Given the description of an element on the screen output the (x, y) to click on. 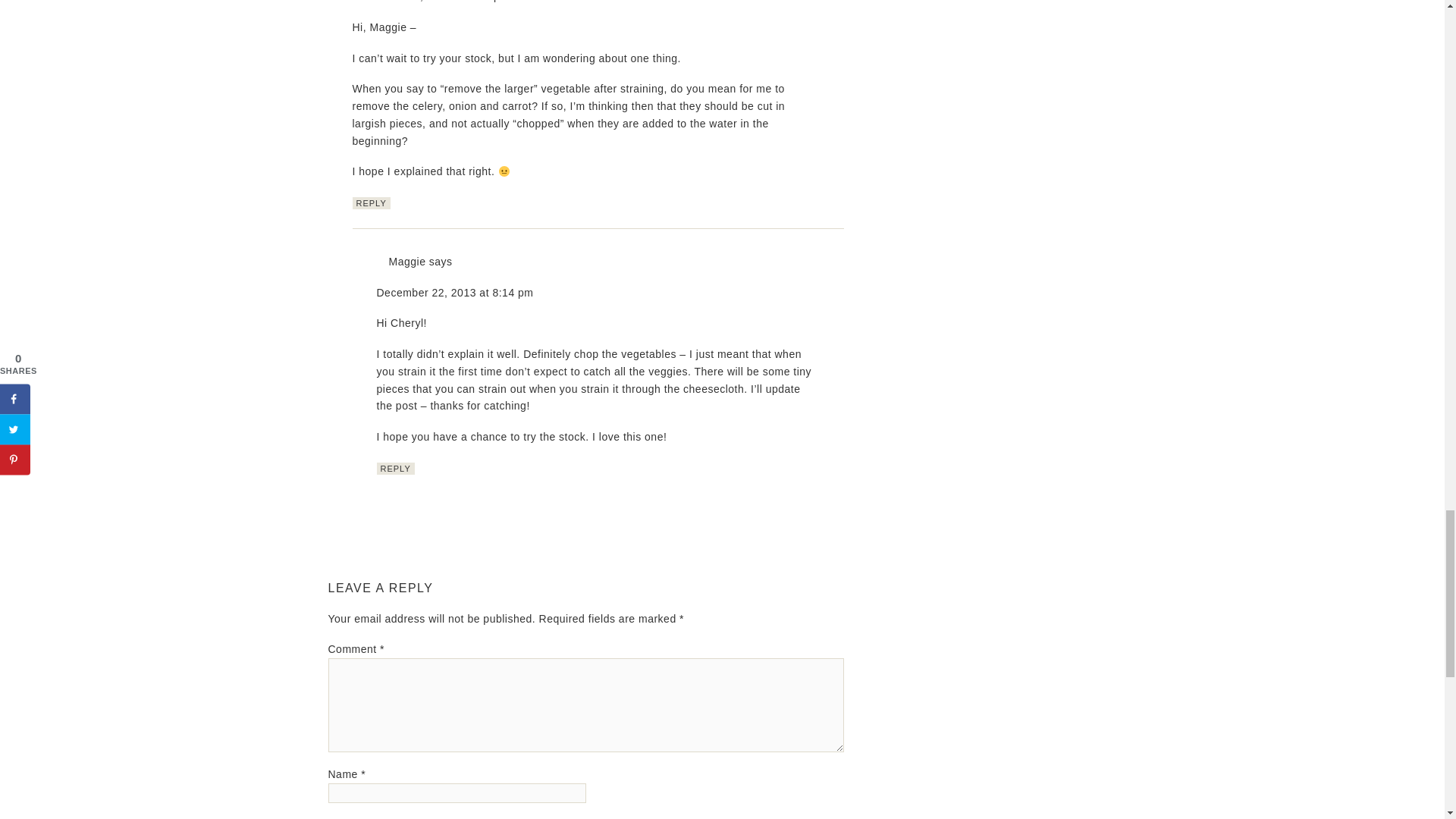
REPLY (371, 203)
REPLY (394, 468)
December 22, 2013 at 7:42 pm (430, 1)
December 22, 2013 at 8:14 pm (453, 292)
